Given the description of an element on the screen output the (x, y) to click on. 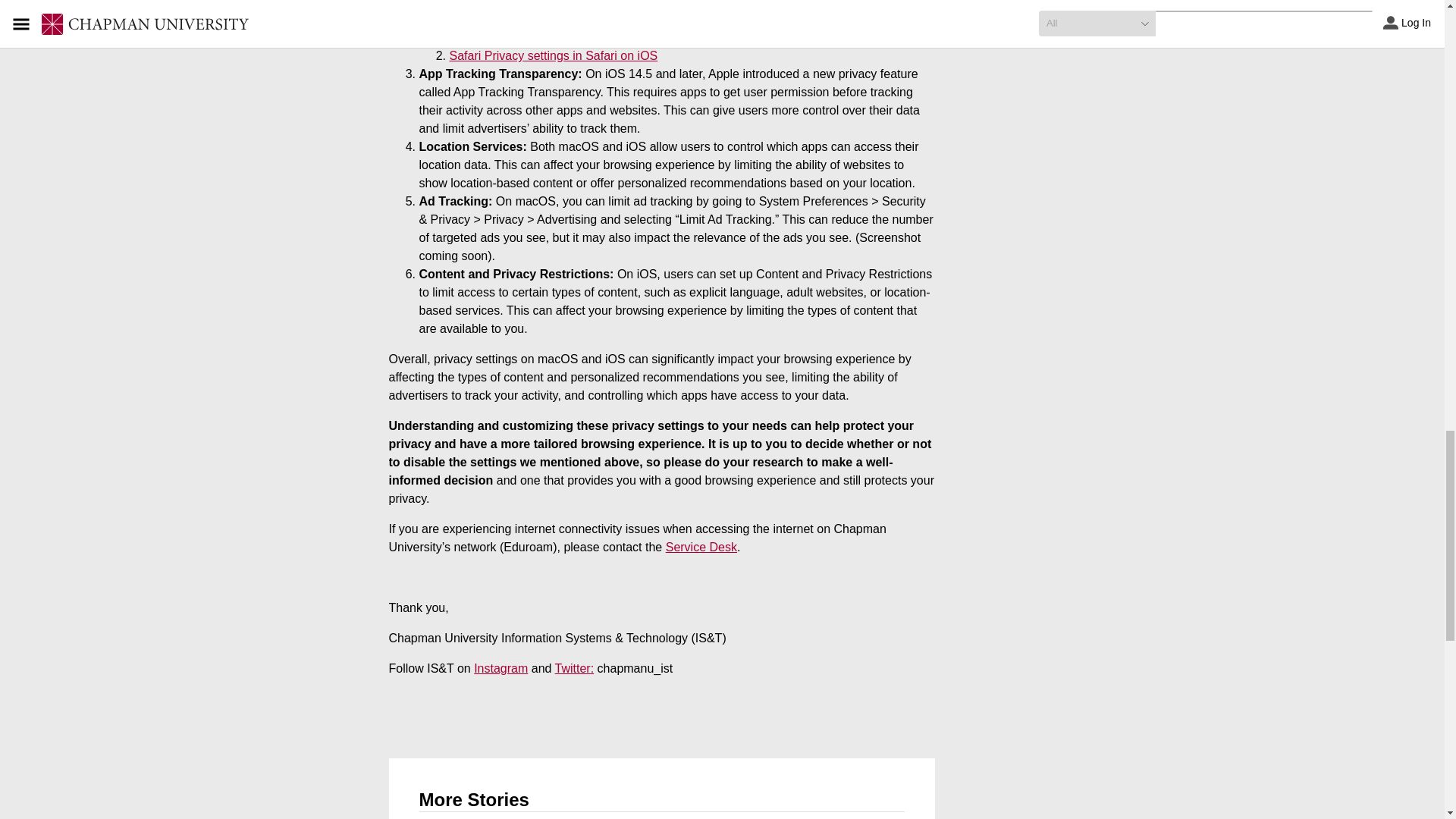
Instagram (500, 667)
Service Desk (700, 546)
Safari Privacy settings in Safari on Mac (553, 37)
Safari Privacy settings in Safari on iOS (553, 55)
Twitter: (574, 667)
